Given the description of an element on the screen output the (x, y) to click on. 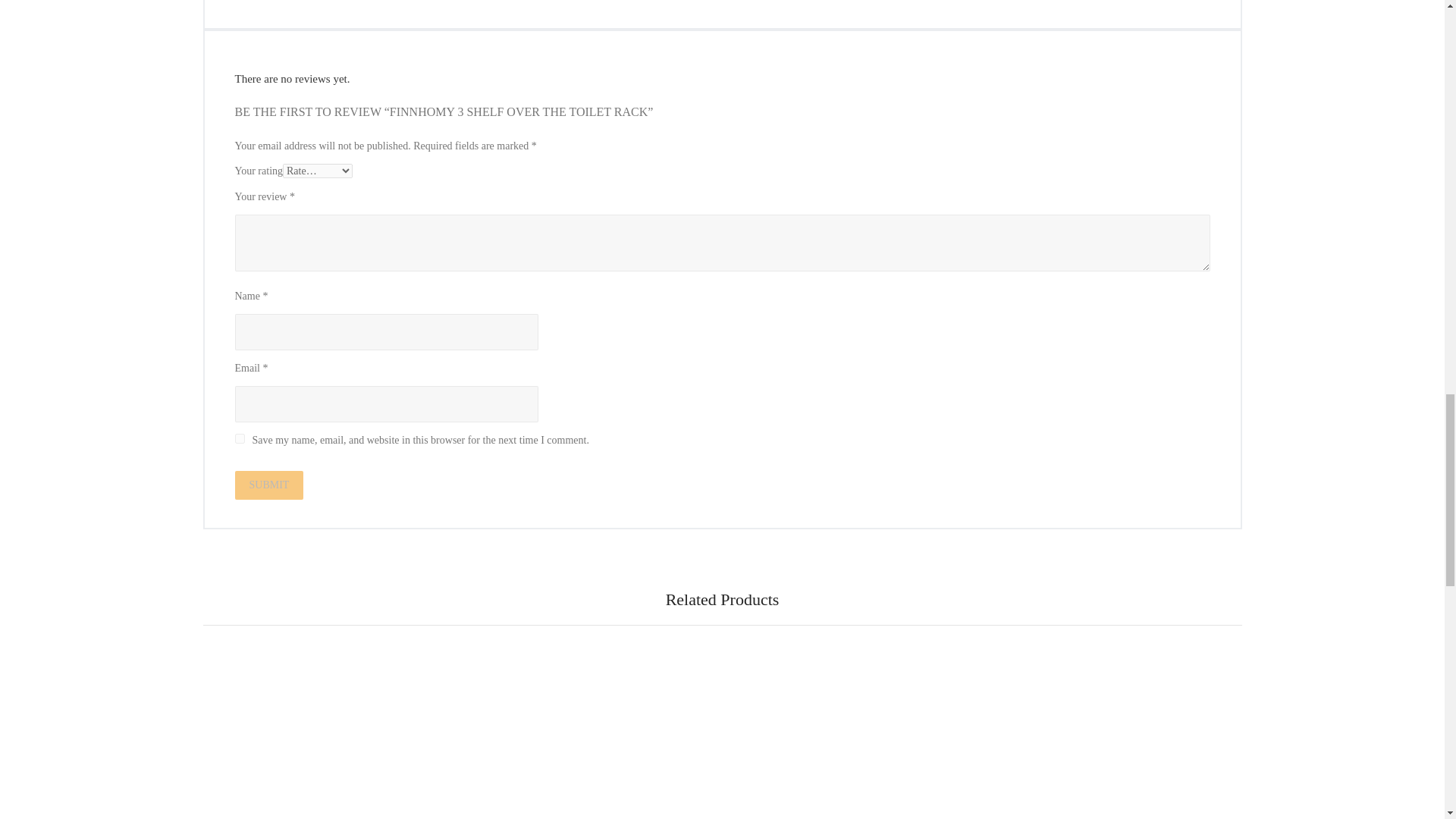
Submit (269, 484)
yes (239, 438)
